Given the description of an element on the screen output the (x, y) to click on. 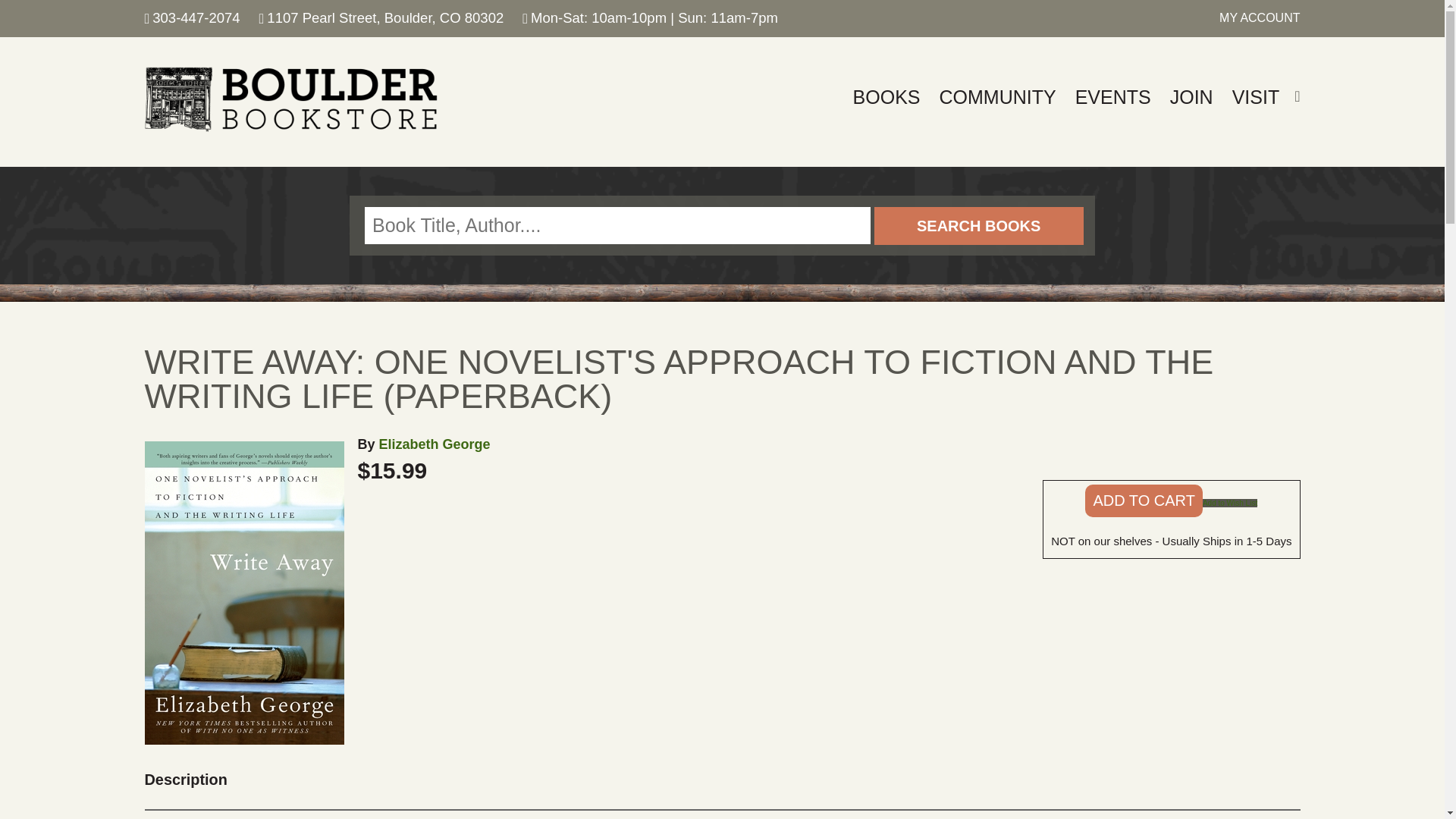
Elizabeth George (434, 444)
Add to Cart (1143, 500)
Add to Cart (1143, 500)
MY ACCOUNT (1260, 17)
JOIN (1191, 96)
BOOKS (886, 96)
EVENTS (1113, 96)
VISIT (1255, 96)
COMMUNITY (998, 96)
SEARCH BOOKS (979, 225)
